Given the description of an element on the screen output the (x, y) to click on. 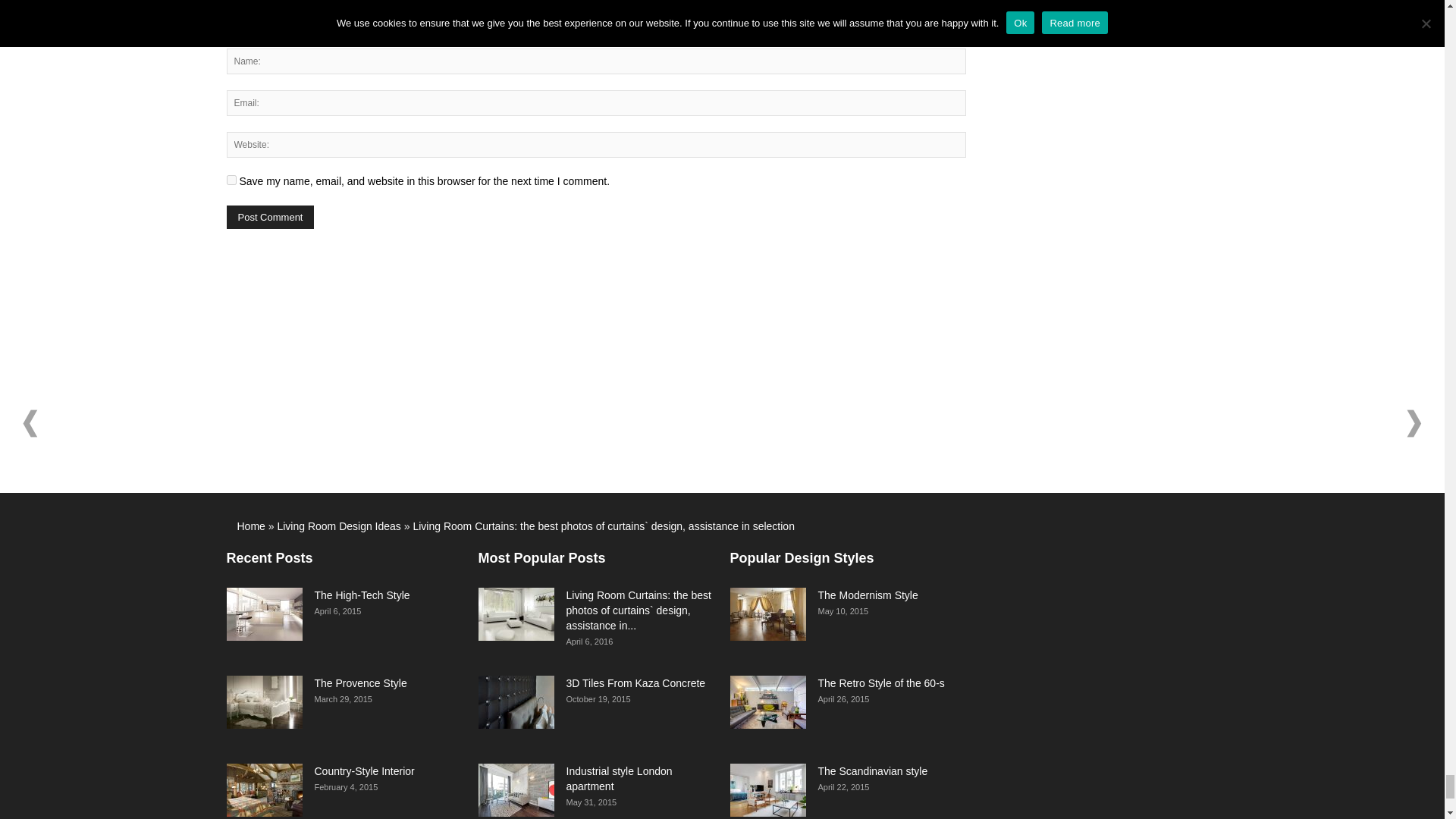
Post Comment (269, 217)
yes (230, 180)
